Given the description of an element on the screen output the (x, y) to click on. 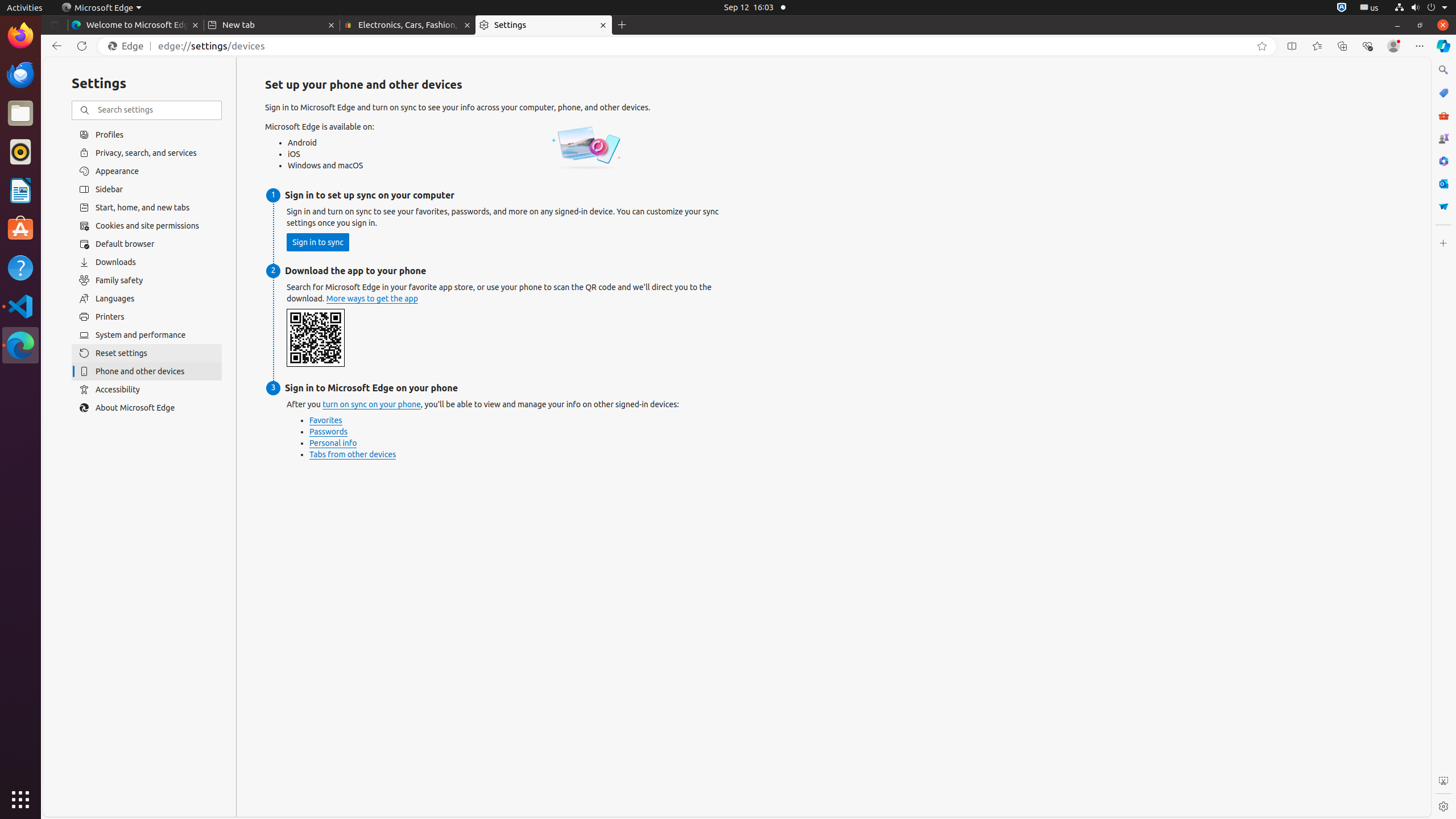
Profiles Element type: tree-item (146, 134)
Tabs from other devices Element type: link (352, 454)
Show Applications Element type: toggle-button (20, 799)
Appearance Element type: tree-item (146, 171)
Back Element type: push-button (54, 45)
